Given the description of an element on the screen output the (x, y) to click on. 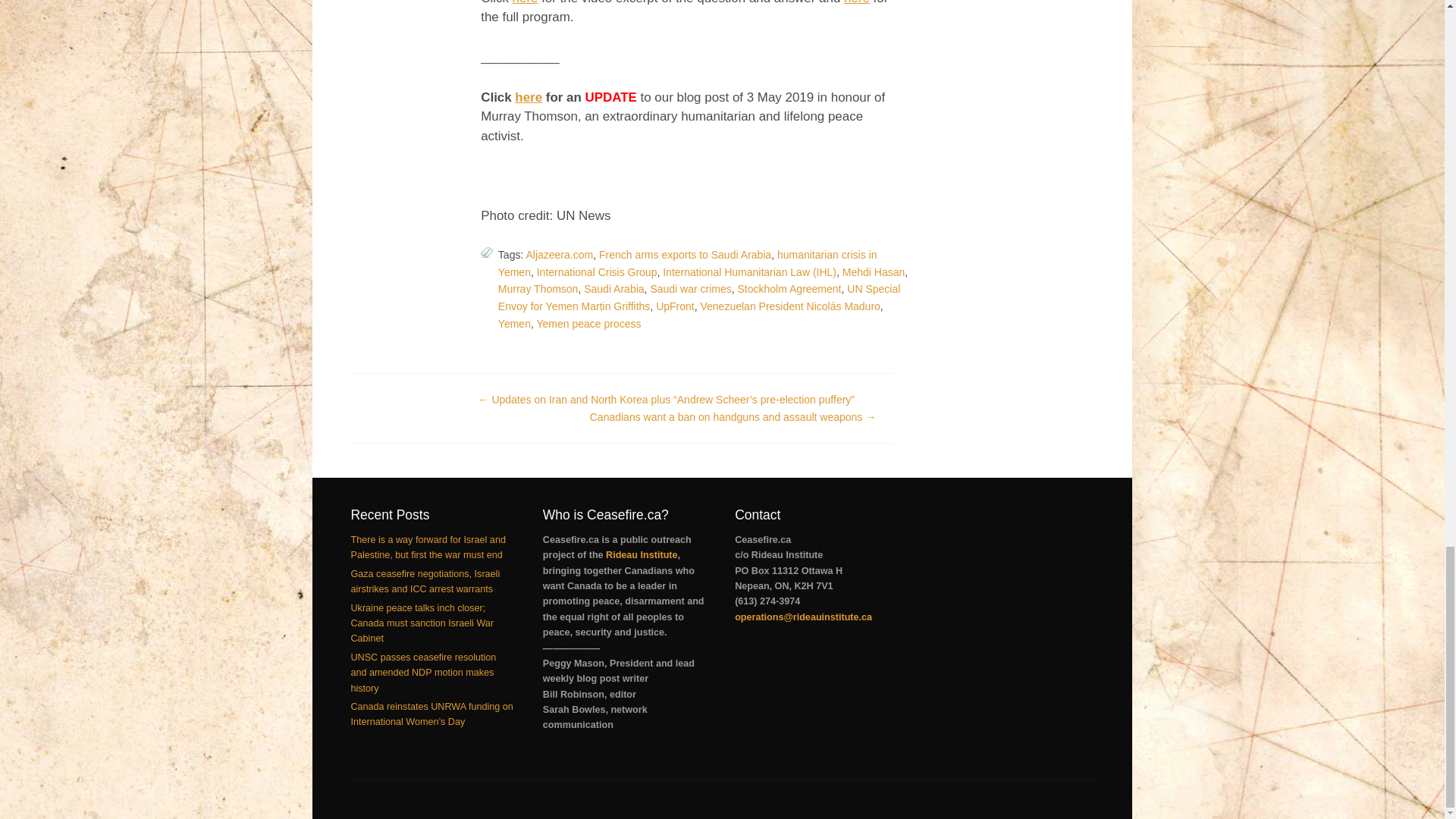
Murray Thomson (537, 288)
here (528, 97)
UN Special Envoy for Yemen Martin Griffiths (698, 297)
Saudi Arabia (613, 288)
Yemen (514, 323)
Mehdi Hasan (874, 272)
Aljazeera.com (558, 254)
International Crisis Group (597, 272)
French arms exports to Saudi Arabia (684, 254)
humanitarian crisis in Yemen (687, 263)
Stockholm Agreement (789, 288)
here (856, 2)
Yemen peace process (587, 323)
UpFront (675, 306)
here (525, 2)
